Given the description of an element on the screen output the (x, y) to click on. 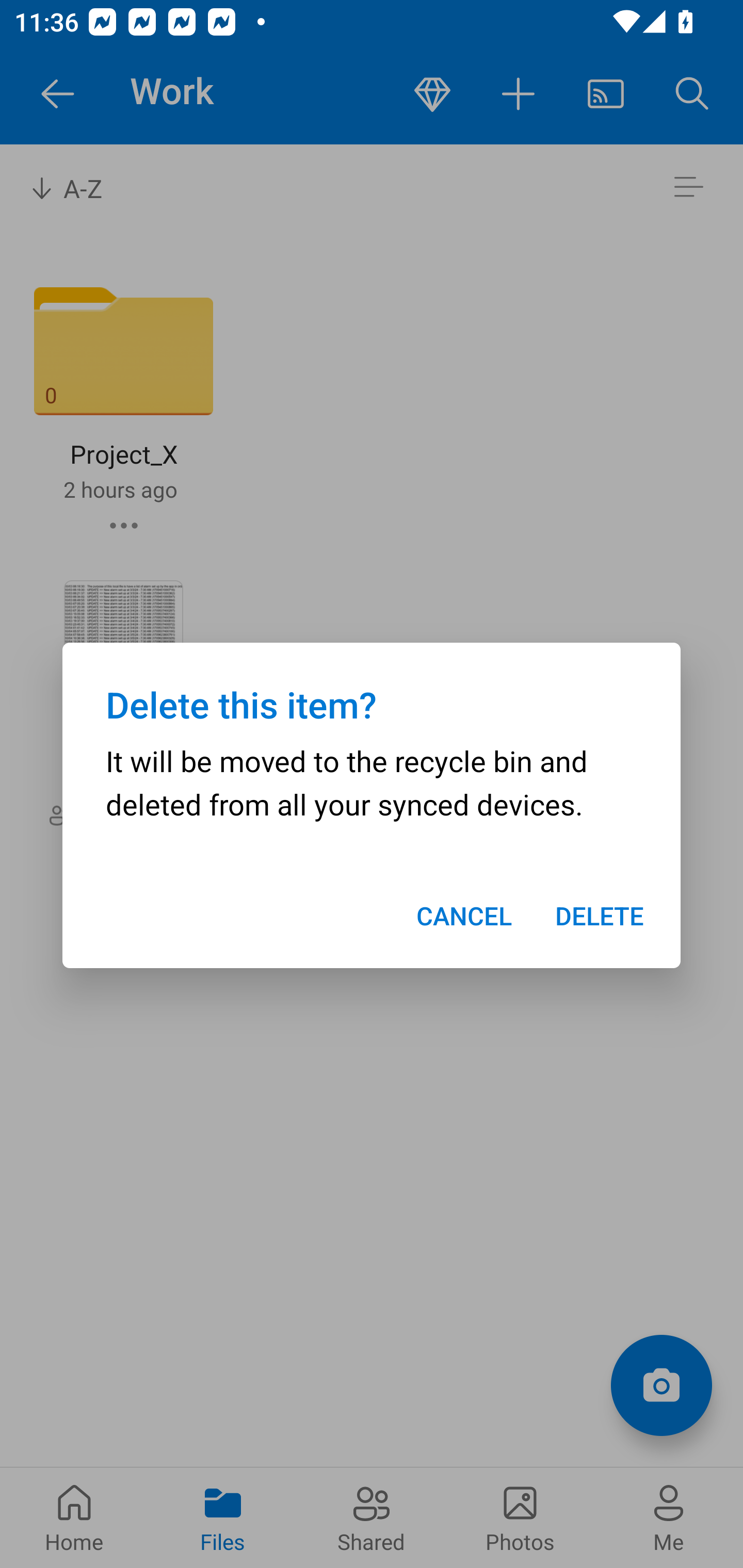
CANCEL (463, 915)
DELETE (599, 915)
